Given the description of an element on the screen output the (x, y) to click on. 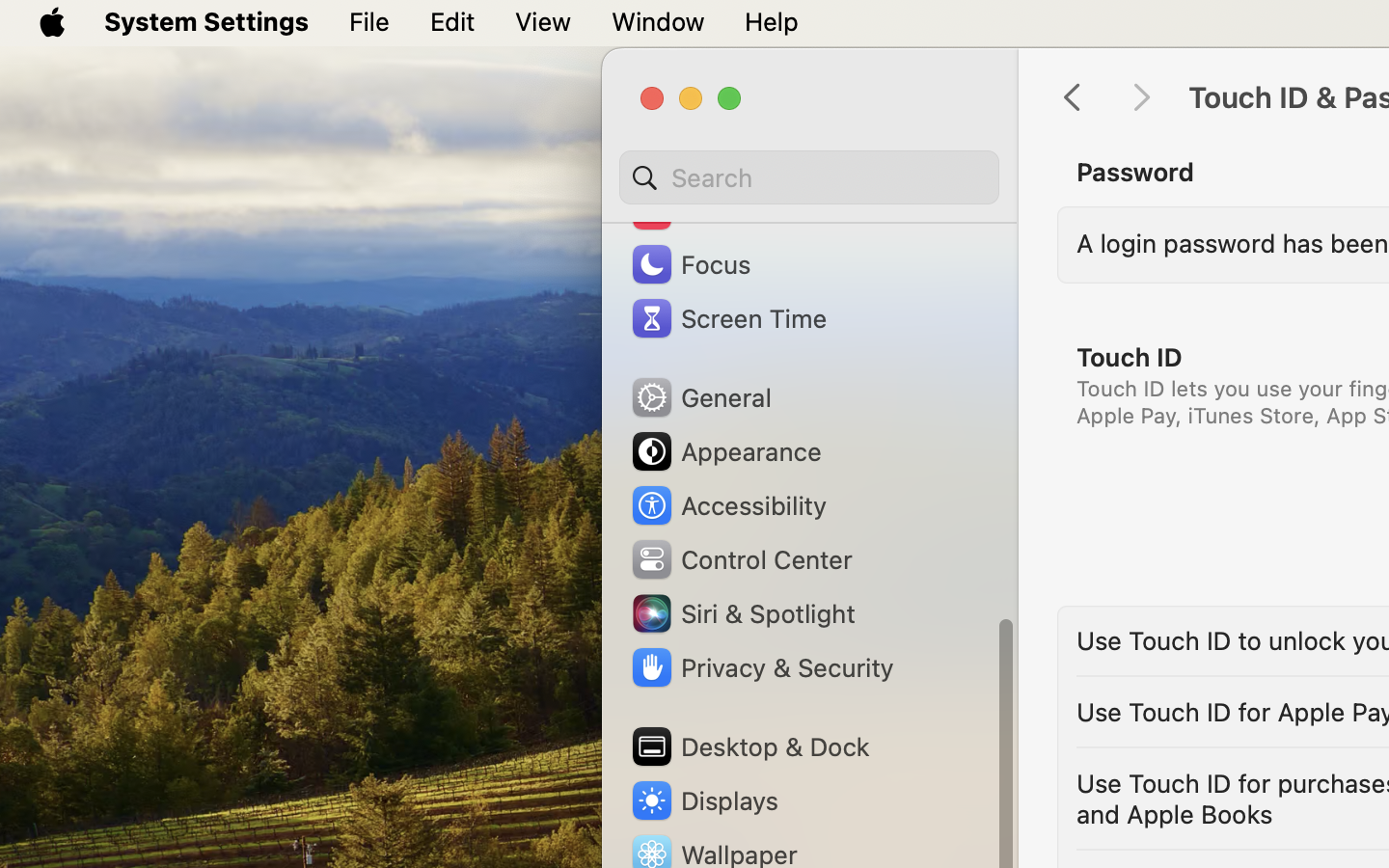
Focus Element type: AXStaticText (689, 264)
Displays Element type: AXStaticText (703, 800)
Desktop & Dock Element type: AXStaticText (749, 746)
General Element type: AXStaticText (699, 397)
Appearance Element type: AXStaticText (724, 451)
